Given the description of an element on the screen output the (x, y) to click on. 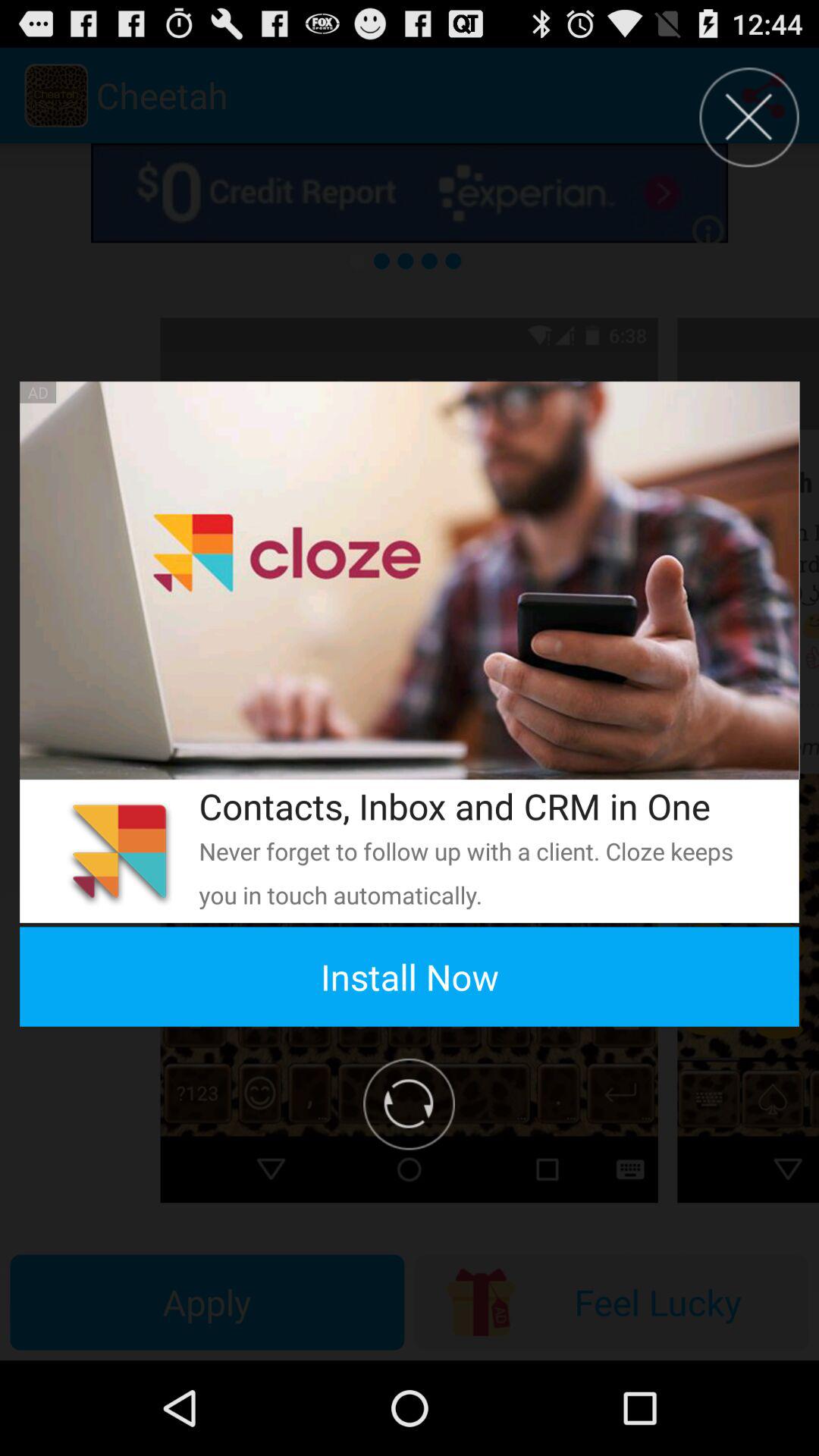
choose install now item (409, 976)
